Given the description of an element on the screen output the (x, y) to click on. 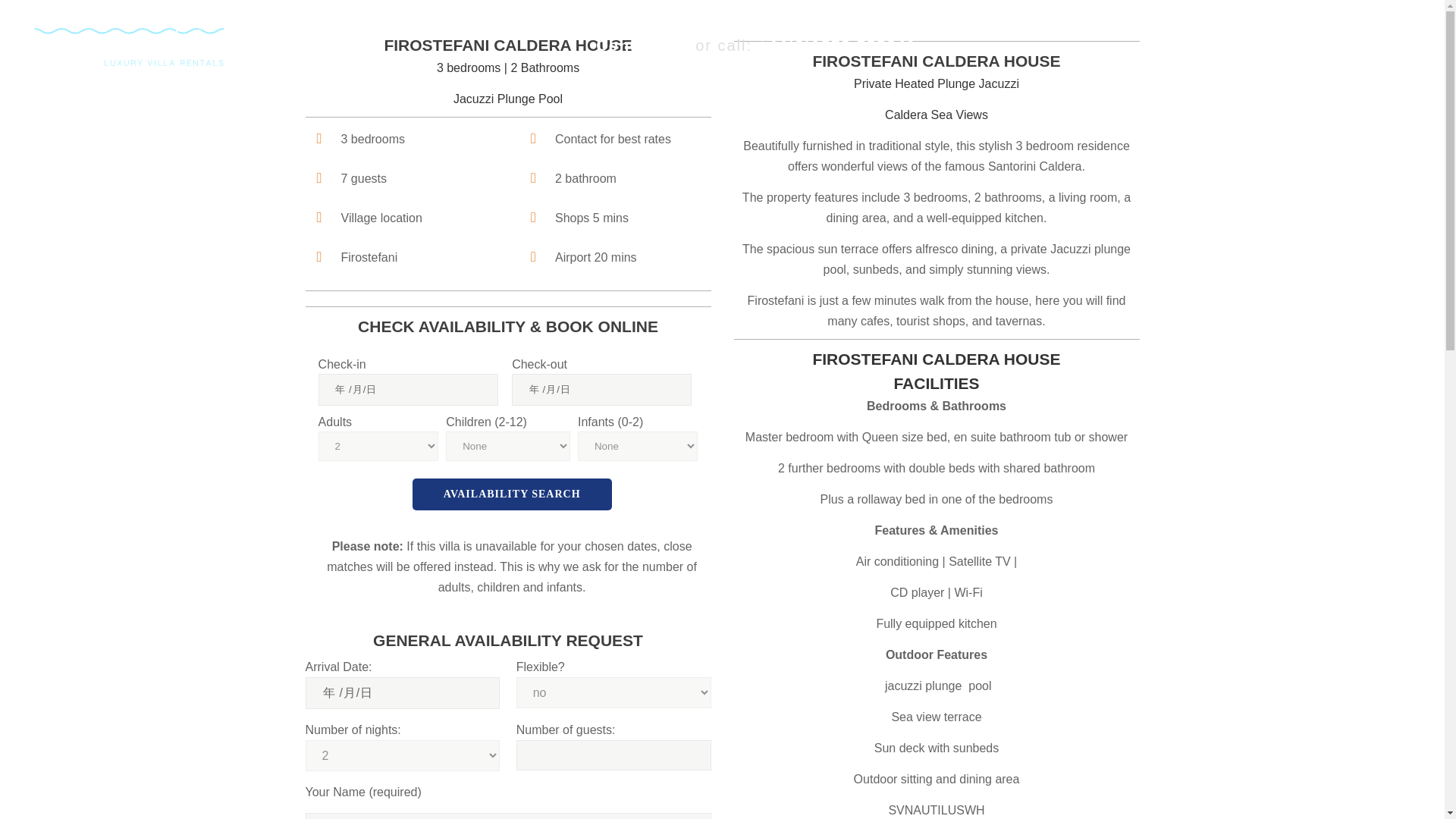
Contact Santorini Villas (641, 45)
Click to call (837, 45)
MENU (1370, 45)
Contact us (641, 45)
